Given the description of an element on the screen output the (x, y) to click on. 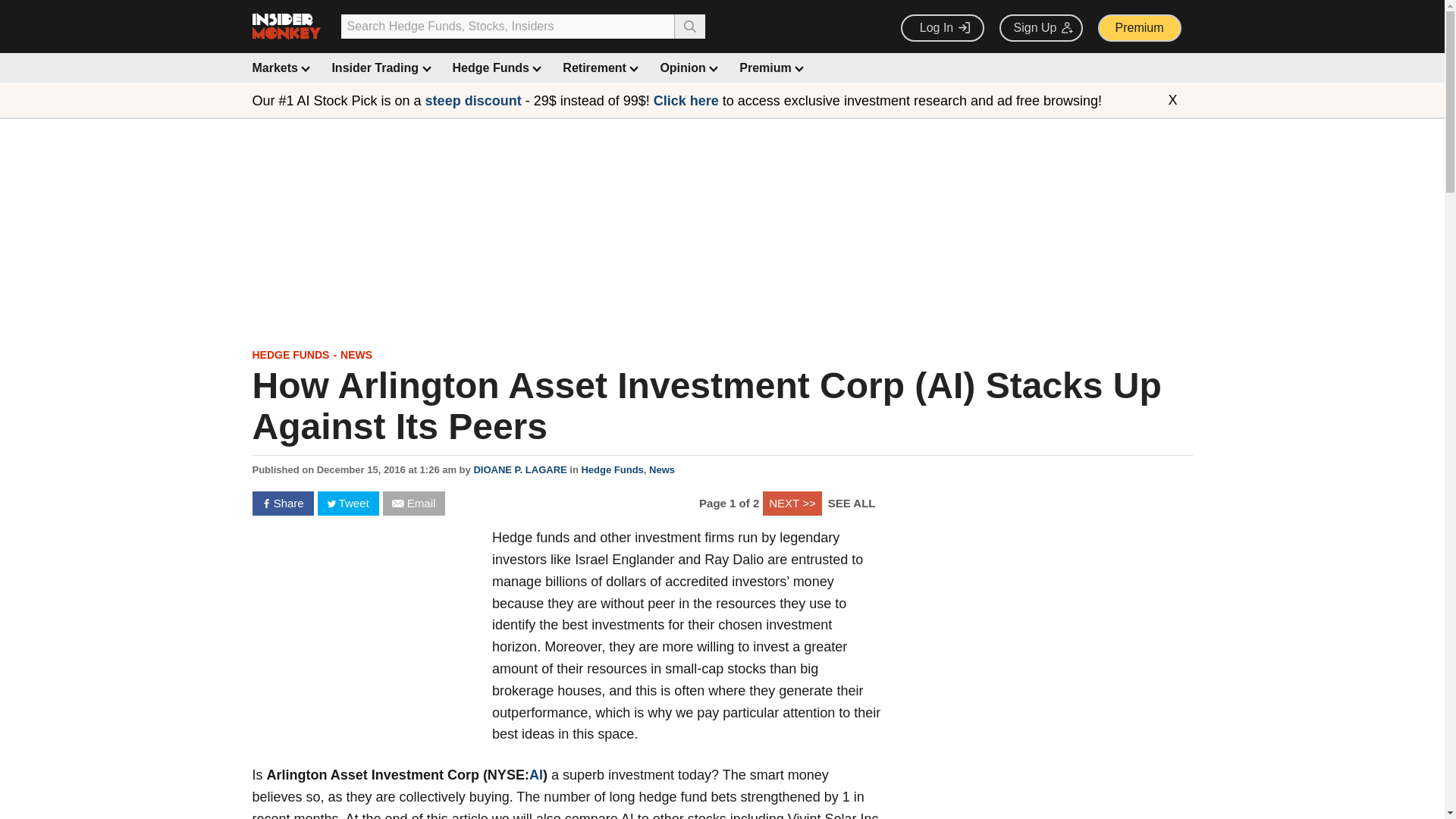
View all posts in Hedge Funds (290, 354)
View all posts in Hedge Funds (611, 469)
Insider Trading (379, 68)
Log In (942, 27)
Markets (279, 68)
Premium (1138, 27)
Retirement (598, 68)
View all posts in News (662, 469)
Opinion (686, 68)
Sign Up (1040, 27)
Hedge Funds (495, 68)
View all posts in News (356, 354)
